Given the description of an element on the screen output the (x, y) to click on. 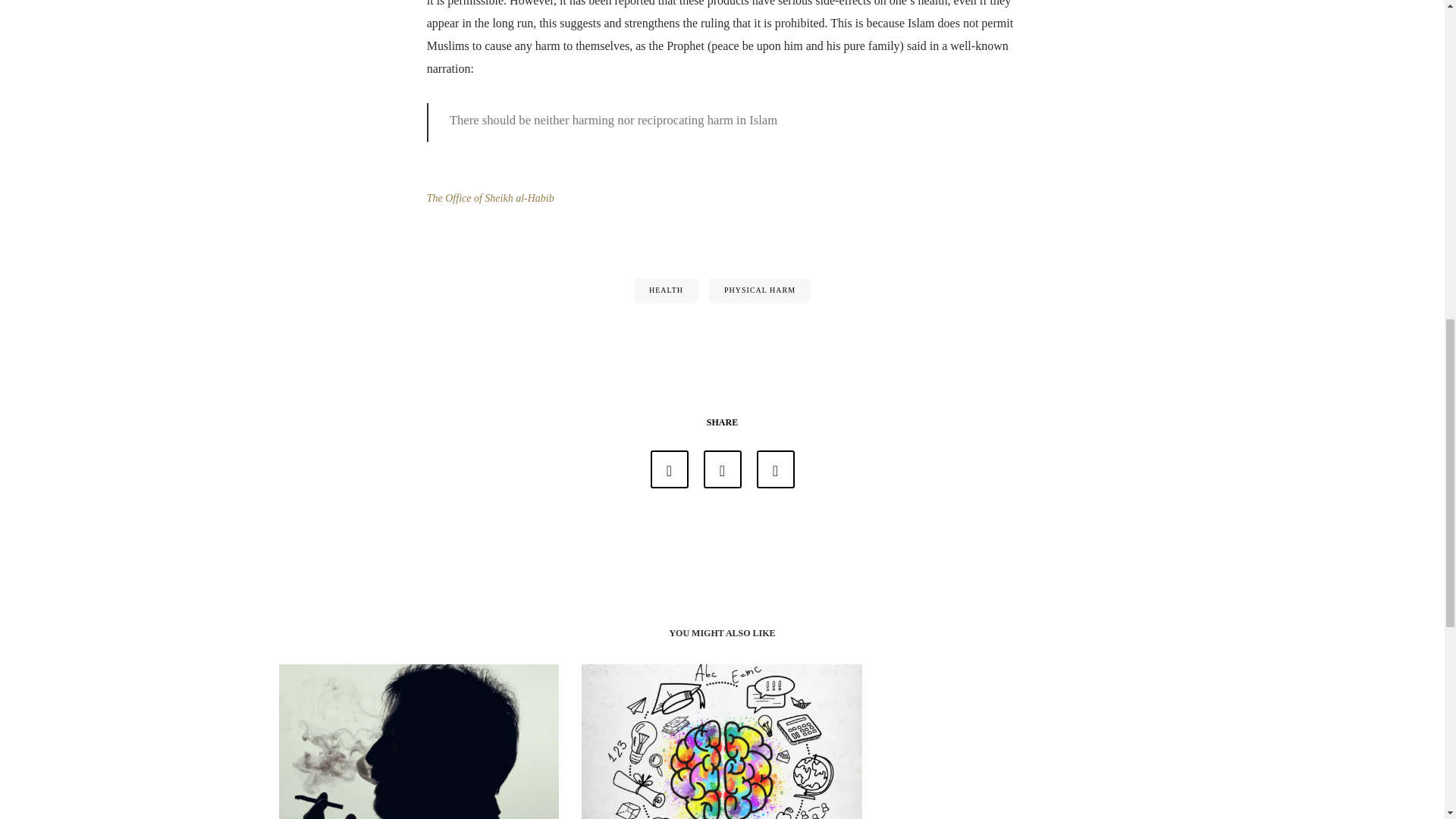
HEALTH (665, 290)
Ruling on steroid usage (722, 469)
Ruling on steroid usage (775, 469)
Ruling on steroid usage (669, 469)
PHYSICAL HARM (759, 290)
